Given the description of an element on the screen output the (x, y) to click on. 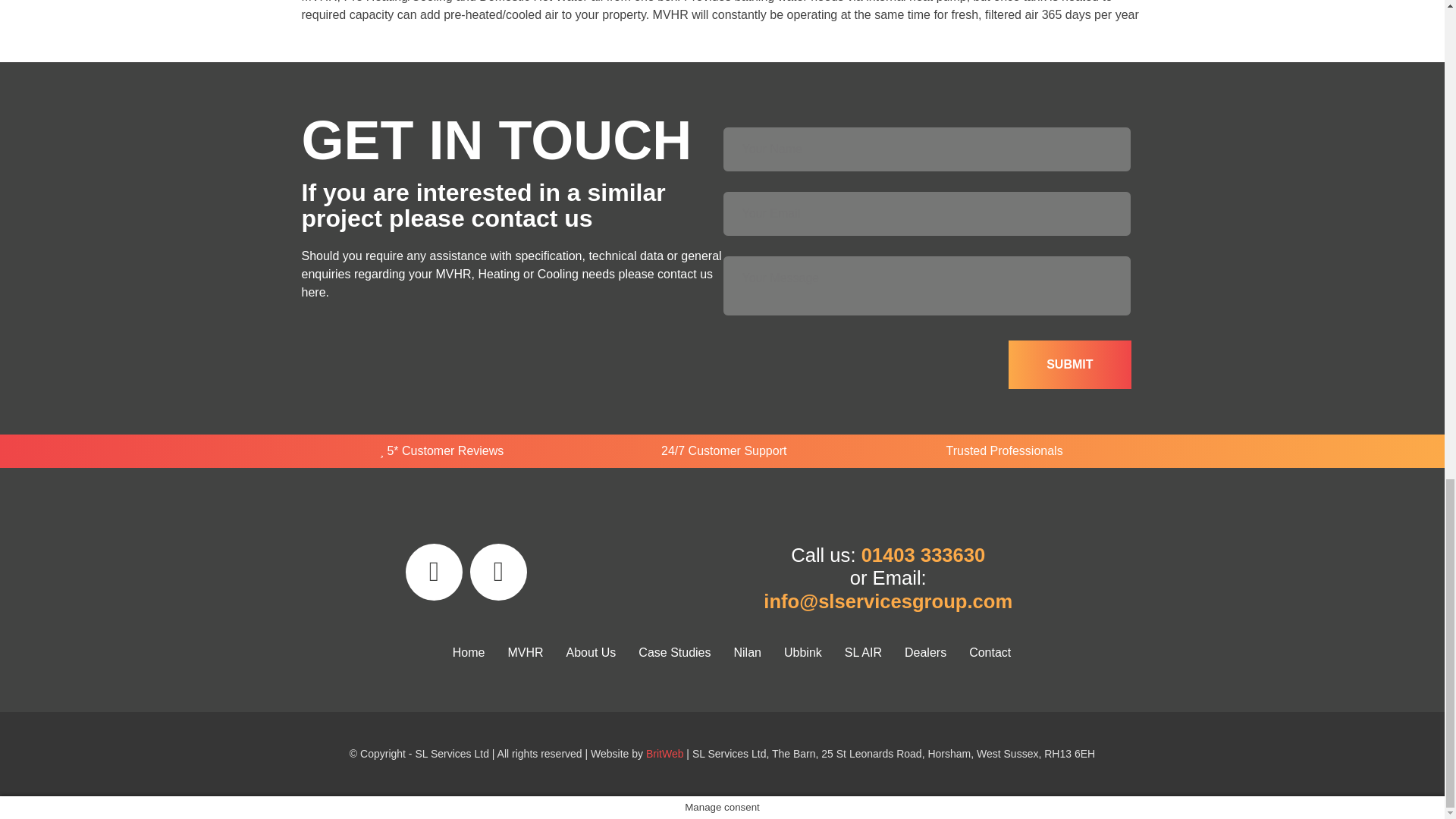
Case Studies (674, 652)
SL AIR (862, 652)
BritWeb (665, 753)
Dealers (925, 652)
Submit (1070, 364)
Home (468, 652)
About Us (590, 652)
Contact (990, 652)
Nilan (746, 652)
Submit (1070, 364)
